Given the description of an element on the screen output the (x, y) to click on. 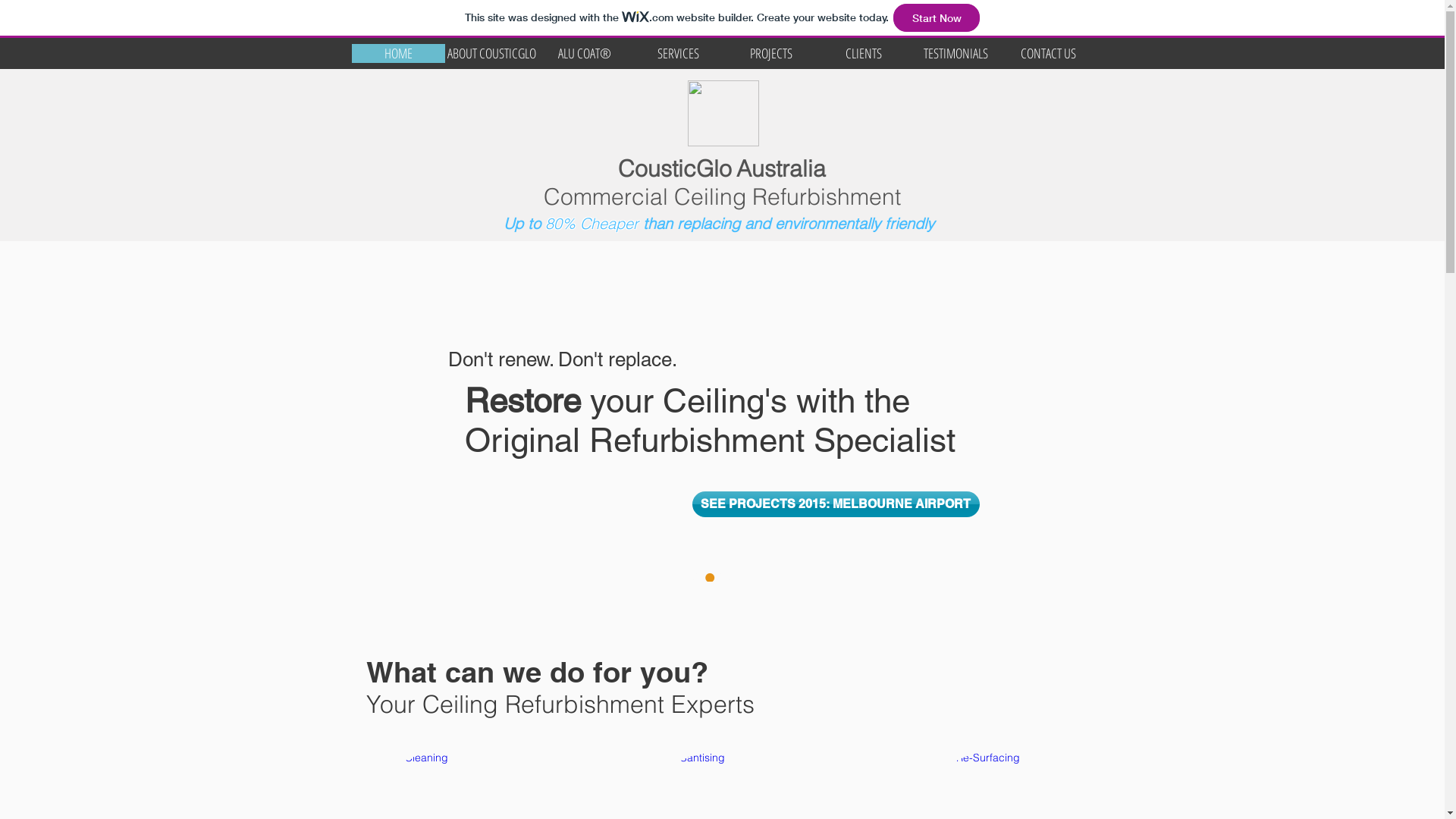
SERVICES Element type: text (677, 52)
images.jpg Element type: hover (722, 113)
TESTIMONIALS Element type: text (956, 52)
CLIENTS Element type: text (863, 52)
CONTACT US Element type: text (1048, 52)
HOME Element type: text (398, 52)
SEE PROJECTS 2015: MELBOURNE AIRPORT Element type: text (835, 504)
PROJECTS Element type: text (770, 52)
ABOUT COUSTICGLO Element type: text (490, 52)
